Given the description of an element on the screen output the (x, y) to click on. 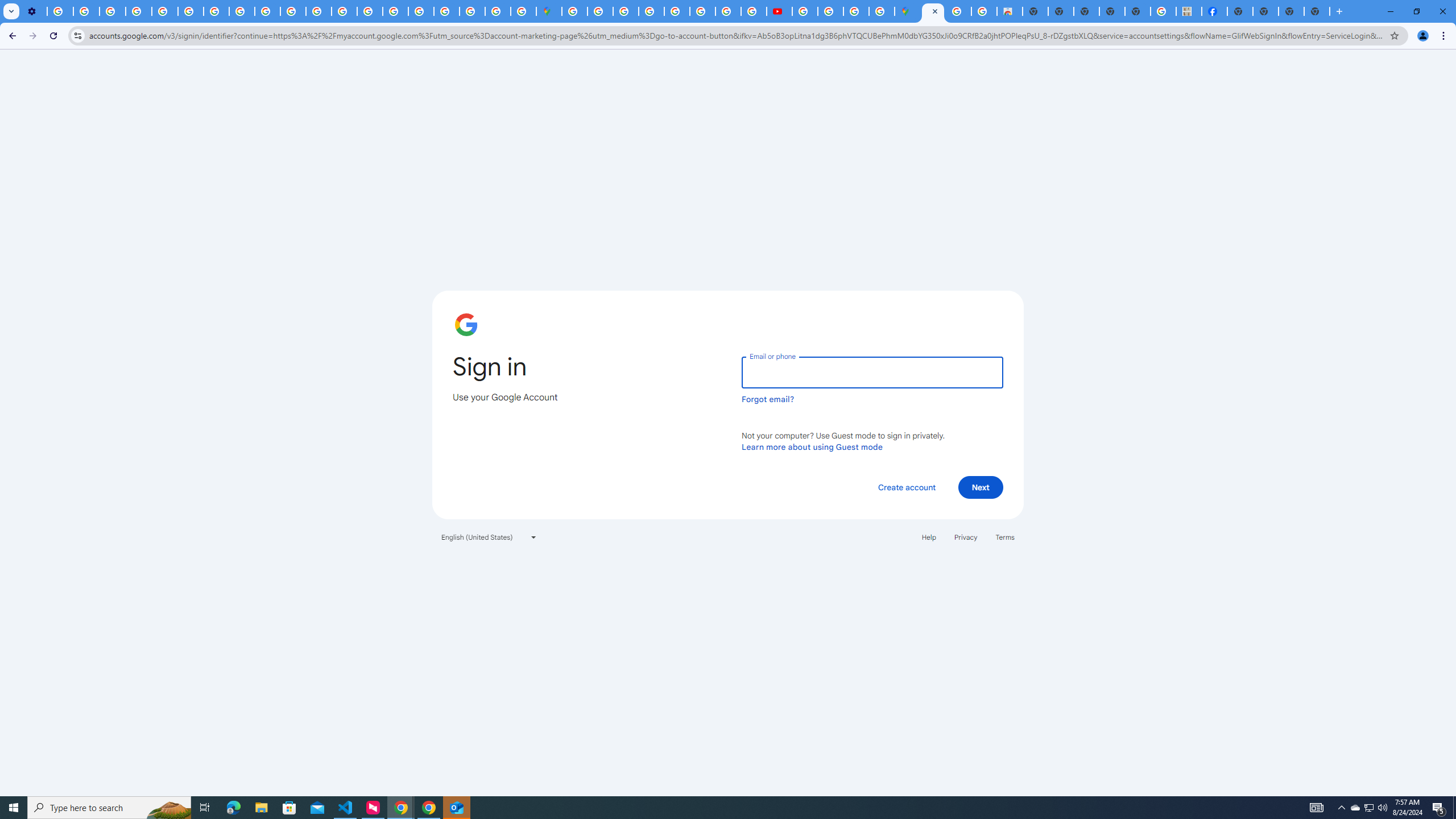
Privacy Help Center - Policies Help (727, 11)
View site information (77, 35)
New Tab (1338, 11)
Bookmark this tab (1393, 35)
Miley Cyrus | Facebook (1213, 11)
Terms (1005, 536)
Create account (905, 486)
Settings - Customize profile (34, 11)
MILEY CYRUS. (1188, 11)
Email or phone (871, 372)
